Given the description of an element on the screen output the (x, y) to click on. 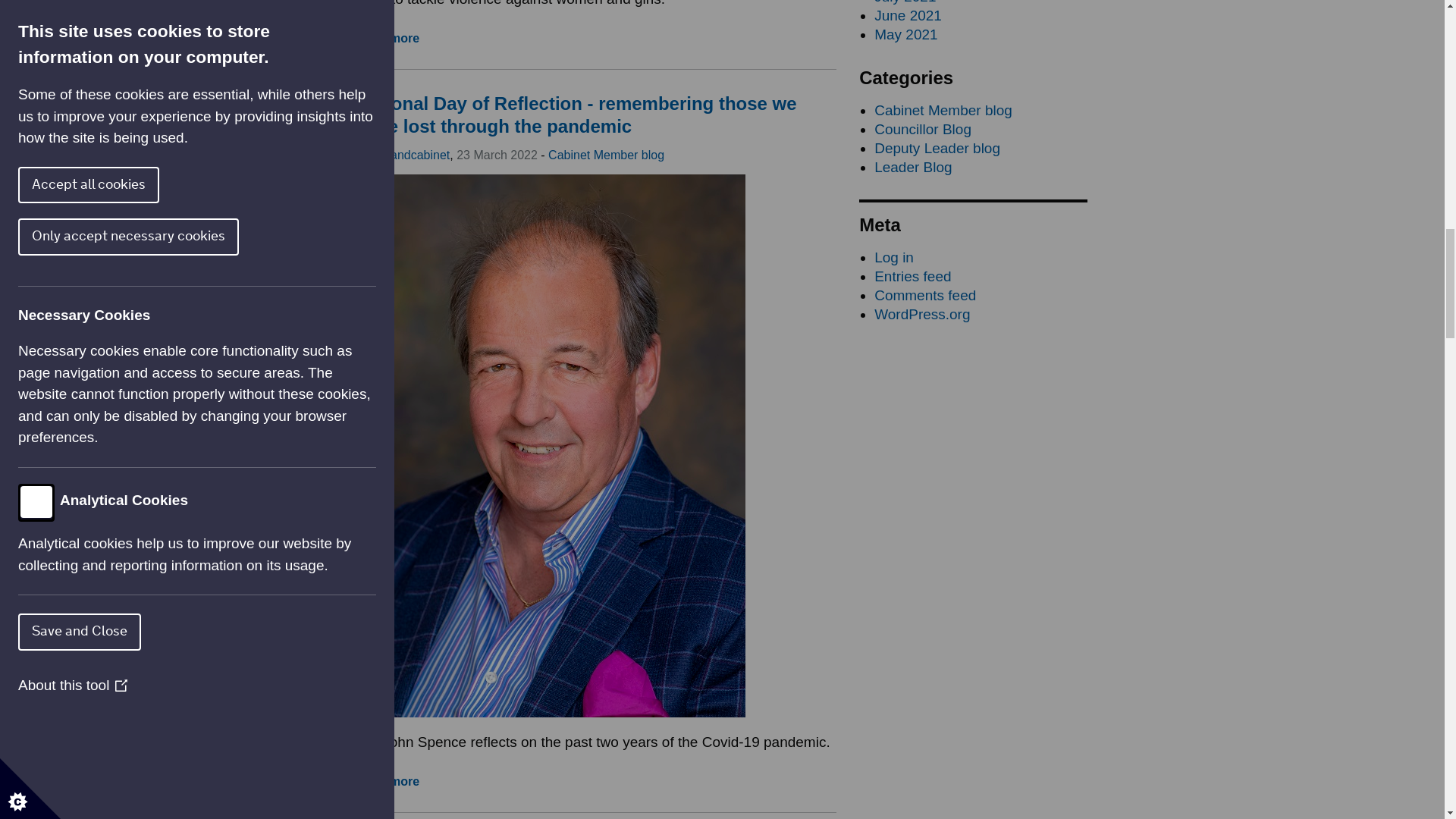
Read more (387, 38)
leaderandcabinet (402, 154)
Read more (387, 780)
Posts by leaderandcabinet (402, 154)
Cabinet Member blog (605, 154)
